Given the description of an element on the screen output the (x, y) to click on. 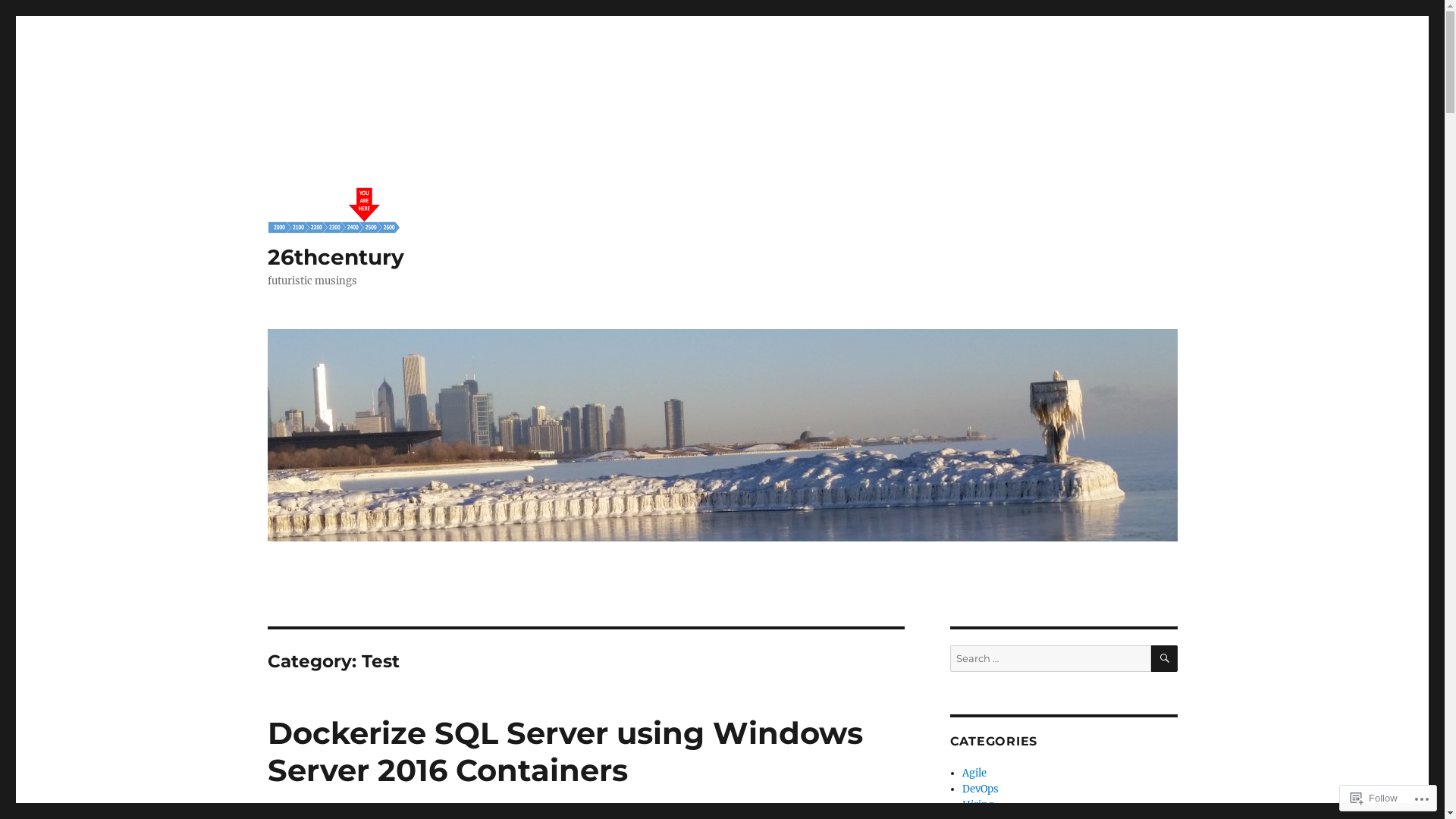
Follow Element type: text (1373, 797)
Agile Element type: text (974, 772)
Dockerize SQL Server using Windows Server 2016 Containers Element type: text (564, 751)
DevOps Element type: text (980, 788)
Hiring Element type: text (978, 804)
26thcentury Element type: text (334, 256)
